Given the description of an element on the screen output the (x, y) to click on. 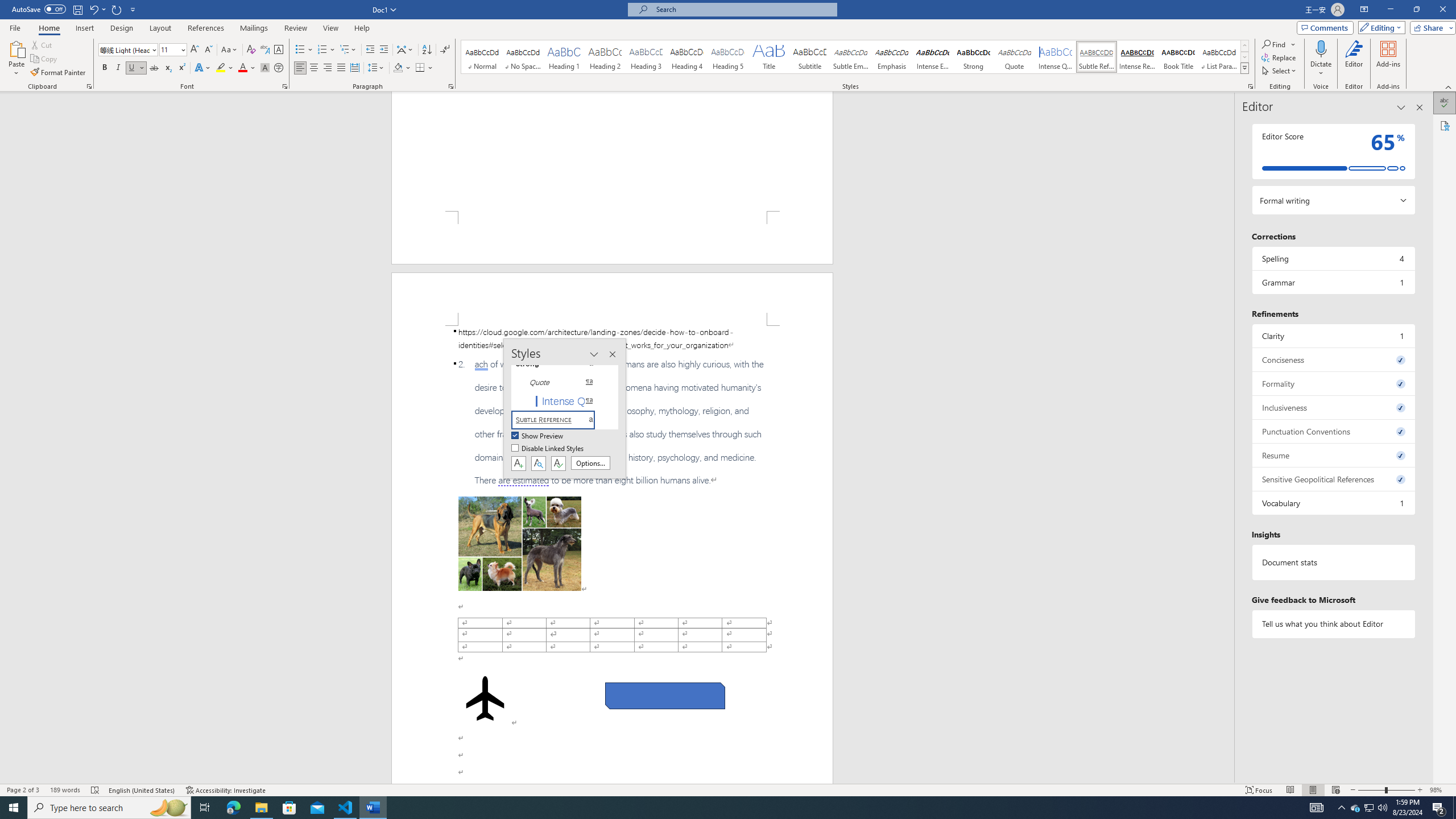
Clarity, 1 issue. Press space or enter to review items. (1333, 335)
Heading 5 (727, 56)
